Given the description of an element on the screen output the (x, y) to click on. 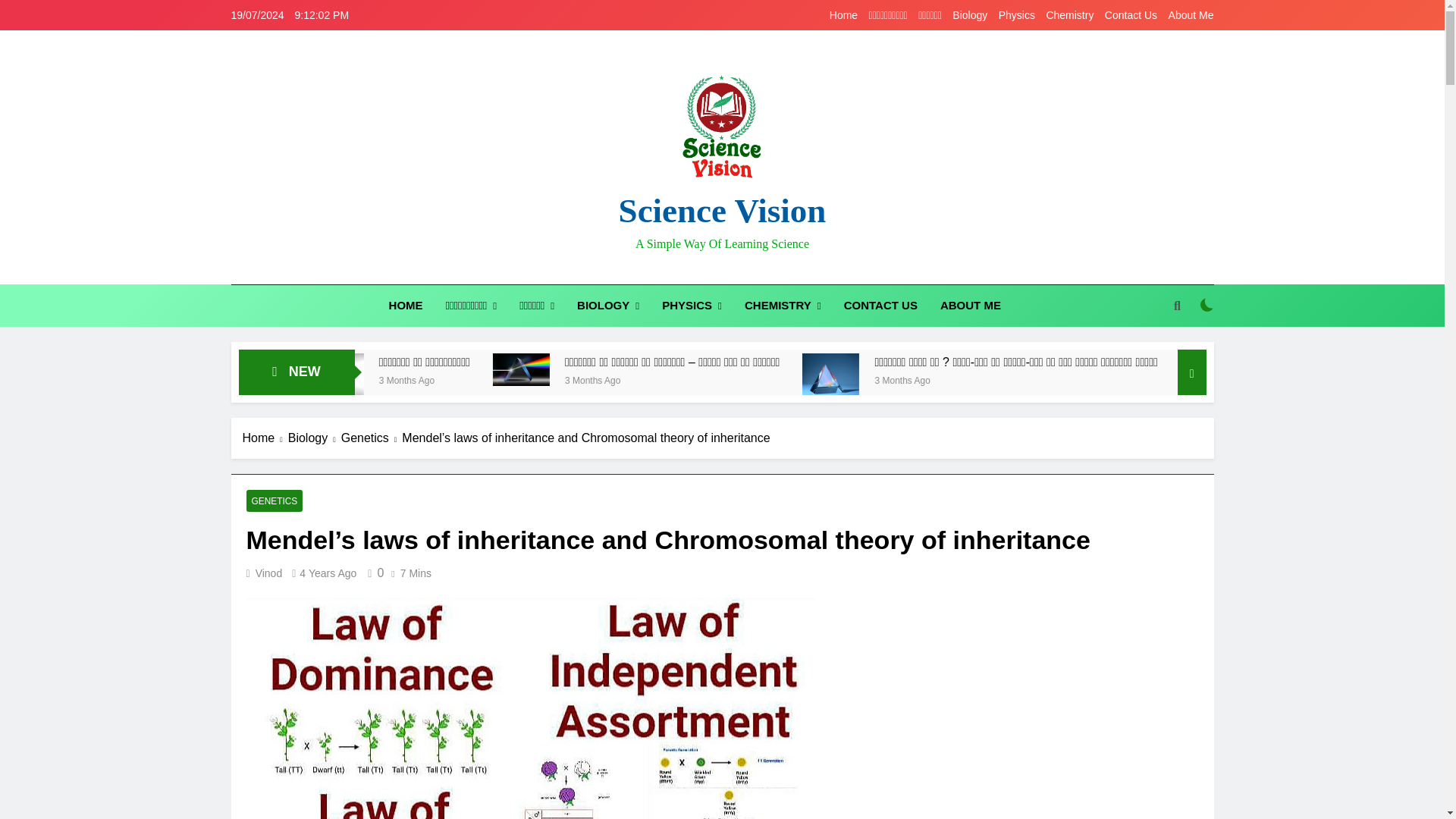
Science Vision (722, 210)
Physics (1016, 15)
HOME (405, 305)
BIOLOGY (608, 305)
PHYSICS (691, 305)
on (1206, 305)
Contact Us (1131, 15)
About Me (1191, 15)
Biology (969, 15)
Home (843, 15)
Chemistry (1069, 15)
